Given the description of an element on the screen output the (x, y) to click on. 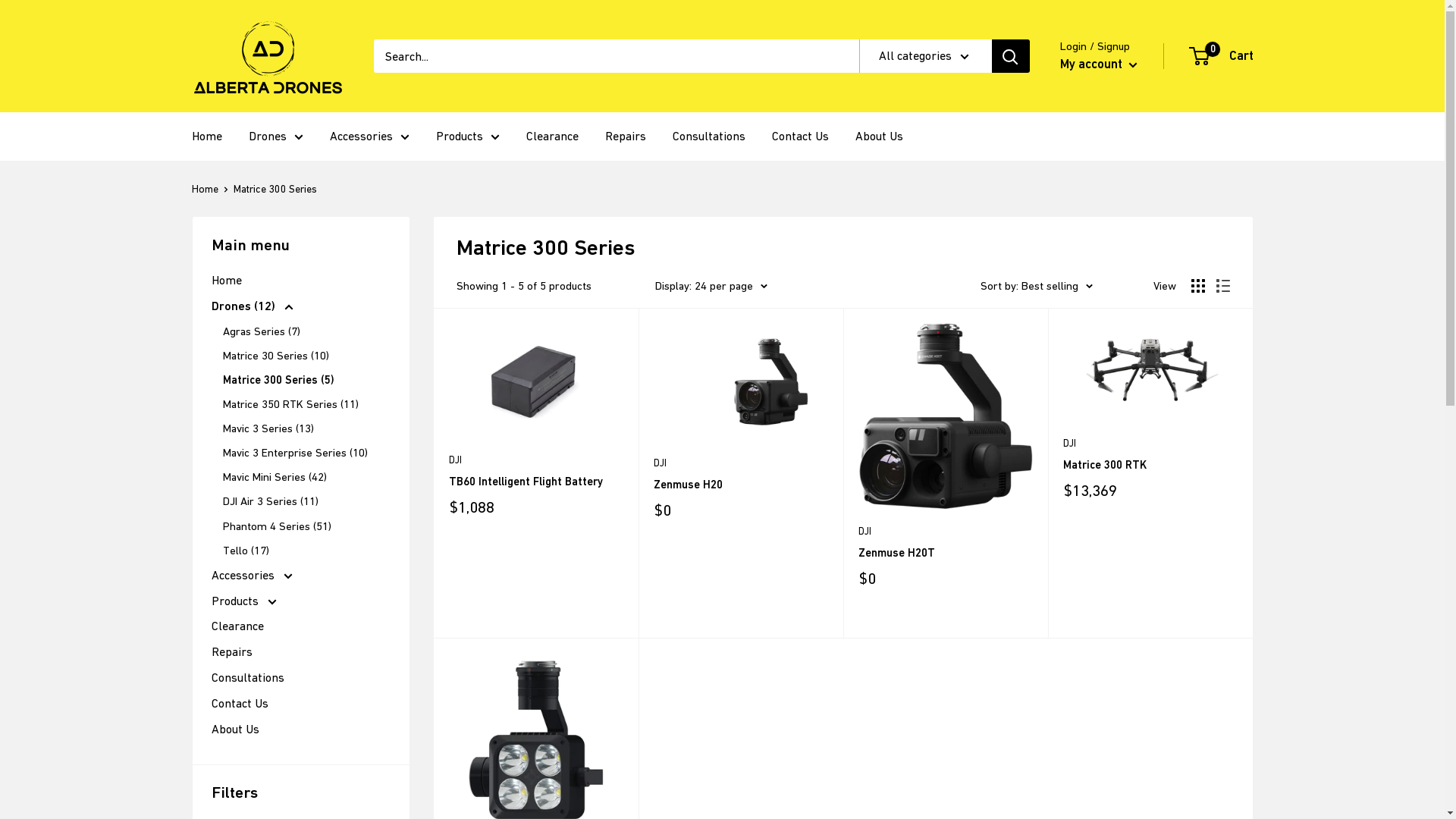
MNT Element type: text (229, 487)
Drones Element type: text (275, 136)
MYR Element type: text (229, 588)
DJI Element type: text (1150, 443)
PHP Element type: text (229, 728)
KGS Element type: text (229, 227)
Drones (12) Element type: text (299, 306)
DJI Air 3 Series (11) Element type: text (306, 501)
MMK Element type: text (229, 467)
HNL Element type: text (229, 45)
Matrice 300 Series (5) Element type: text (306, 379)
Mavic 3 Enterprise Series (10) Element type: text (306, 452)
MOP Element type: text (229, 507)
Display: 24 per page Element type: text (711, 285)
Mavic 3 Series (13) Element type: text (306, 428)
KZT Element type: text (229, 327)
Agras Series (7) Element type: text (306, 331)
Clearance Element type: text (552, 136)
Zenmuse H20T Element type: text (945, 552)
Matrice 30 Series (10) Element type: text (306, 355)
Consultations Element type: text (707, 136)
Phantom 4 Series (51) Element type: text (306, 526)
IDR Element type: text (229, 86)
My account Element type: text (1098, 64)
Home Element type: text (299, 280)
MAD Element type: text (229, 407)
PEN Element type: text (229, 688)
MDL Element type: text (229, 427)
DJI Element type: text (535, 459)
NZD Element type: text (229, 668)
MKD Element type: text (229, 447)
HKD Element type: text (229, 26)
TB60 Intelligent Flight Battery Element type: text (535, 480)
NGN Element type: text (229, 607)
Repairs Element type: text (299, 652)
JPY Element type: text (229, 186)
Tello (17) Element type: text (306, 550)
0
Cart Element type: text (1221, 55)
HUF Element type: text (229, 66)
Sort by: Best selling Element type: text (1035, 285)
Matrice 350 RTK Series (11) Element type: text (306, 404)
MUR Element type: text (229, 528)
KYD Element type: text (229, 306)
NIO Element type: text (229, 628)
ISK Element type: text (229, 146)
INR Element type: text (229, 126)
KMF Element type: text (229, 266)
PLN Element type: text (229, 768)
ILS Element type: text (229, 106)
Products Element type: text (466, 136)
PYG Element type: text (229, 789)
KHR Element type: text (229, 246)
MVR Element type: text (229, 547)
Contact Us Element type: text (299, 703)
About Us Element type: text (879, 136)
Accessories Element type: text (299, 575)
PKR Element type: text (229, 748)
LAK Element type: text (229, 346)
Consultations Element type: text (299, 677)
MWK Element type: text (229, 567)
LBP Element type: text (229, 367)
KES Element type: text (229, 206)
Home Element type: text (204, 188)
Accessories Element type: text (368, 136)
About Us Element type: text (299, 729)
Products Element type: text (299, 601)
JMD Element type: text (229, 166)
Matrice 300 RTK Element type: text (1150, 464)
Clearance Element type: text (299, 626)
Home Element type: text (206, 136)
Zenmuse H20 Element type: text (740, 483)
NPR Element type: text (229, 647)
DJI Element type: text (740, 462)
LKR Element type: text (229, 387)
KRW Element type: text (229, 287)
Repairs Element type: text (625, 136)
PGK Element type: text (229, 708)
Contact Us Element type: text (799, 136)
DJI Element type: text (945, 531)
Mavic Mini Series (42) Element type: text (306, 476)
